Given the description of an element on the screen output the (x, y) to click on. 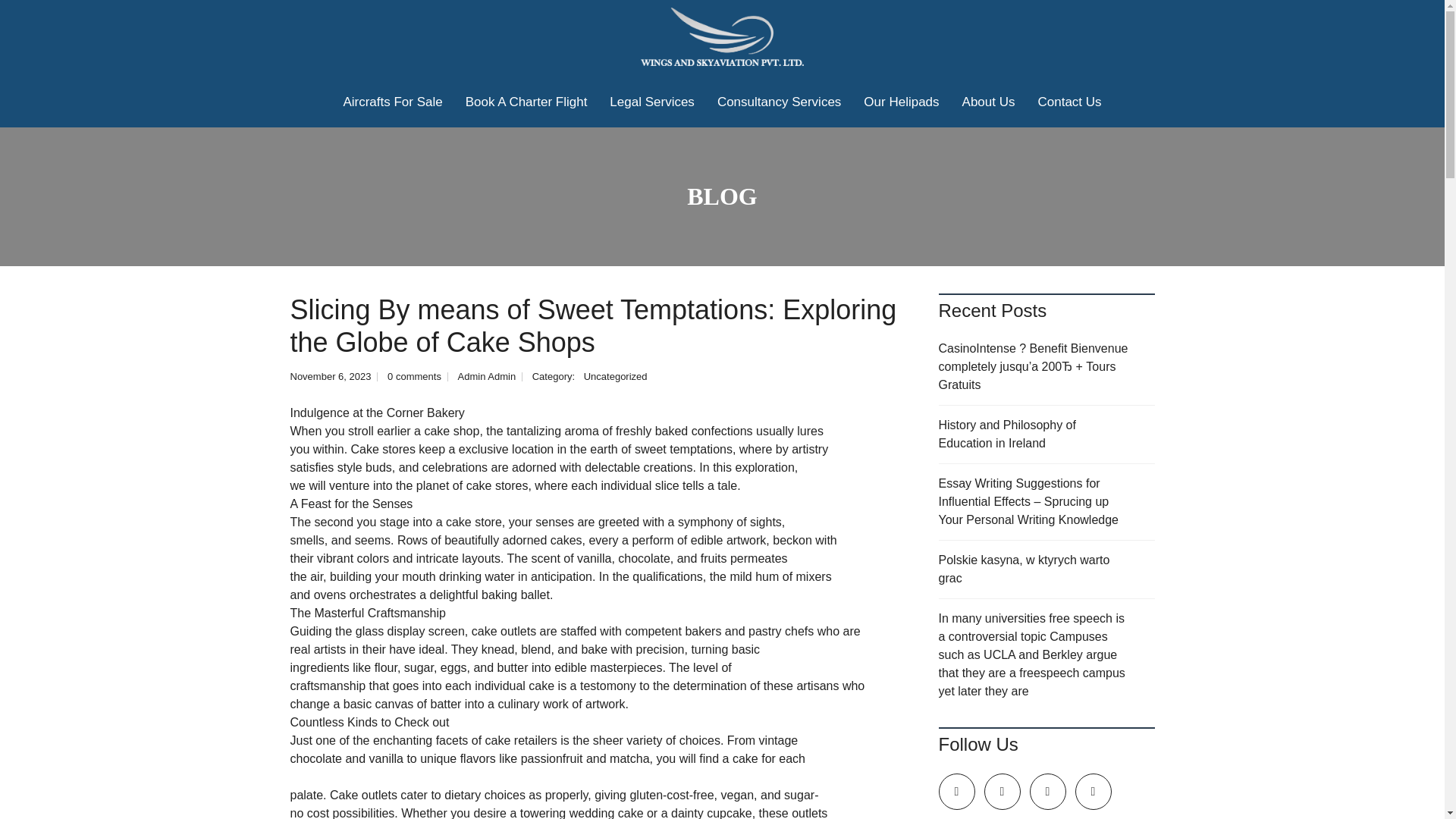
Contact Us (1069, 101)
Aircrafts For Sale (391, 101)
About Us (988, 101)
Legal Services (652, 101)
Our Helipads (900, 101)
Consultancy Services (778, 101)
Book A Charter Flight (526, 101)
Uncategorized (615, 376)
History and Philosophy of Education in Ireland (1046, 434)
